Given the description of an element on the screen output the (x, y) to click on. 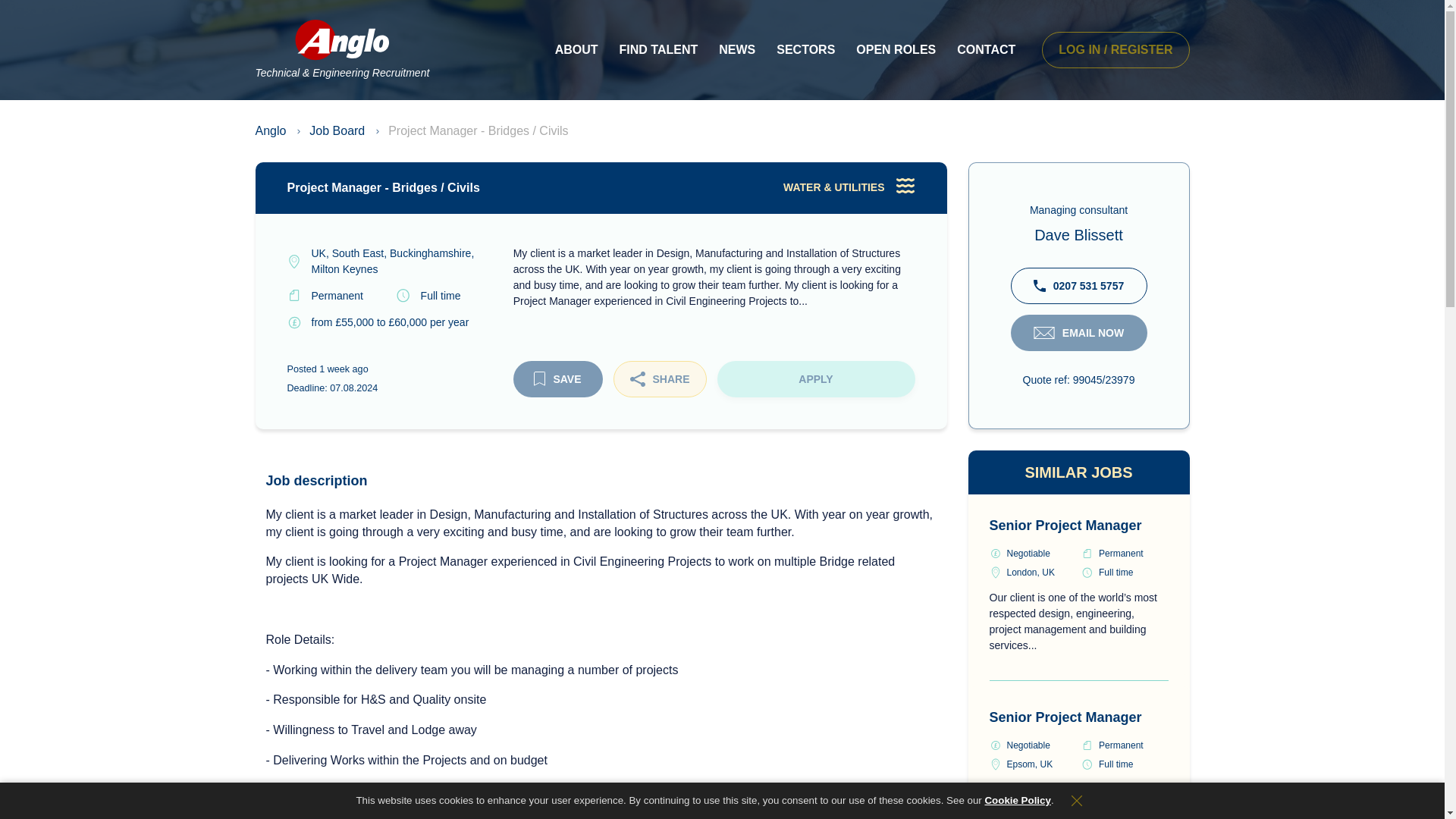
OPEN ROLES (895, 49)
Location (391, 261)
CONTACT (986, 49)
APPLY (816, 379)
NEWS (736, 49)
Anglo (269, 130)
Senior Project Manager (1064, 525)
EMAIL NOW (1078, 332)
Senior Project Manager (1064, 717)
SAVE (557, 379)
SECTORS (805, 49)
24.07.2024 (343, 368)
SHARE (659, 379)
Job Board (336, 130)
0207 531 5757 (1078, 285)
